Given the description of an element on the screen output the (x, y) to click on. 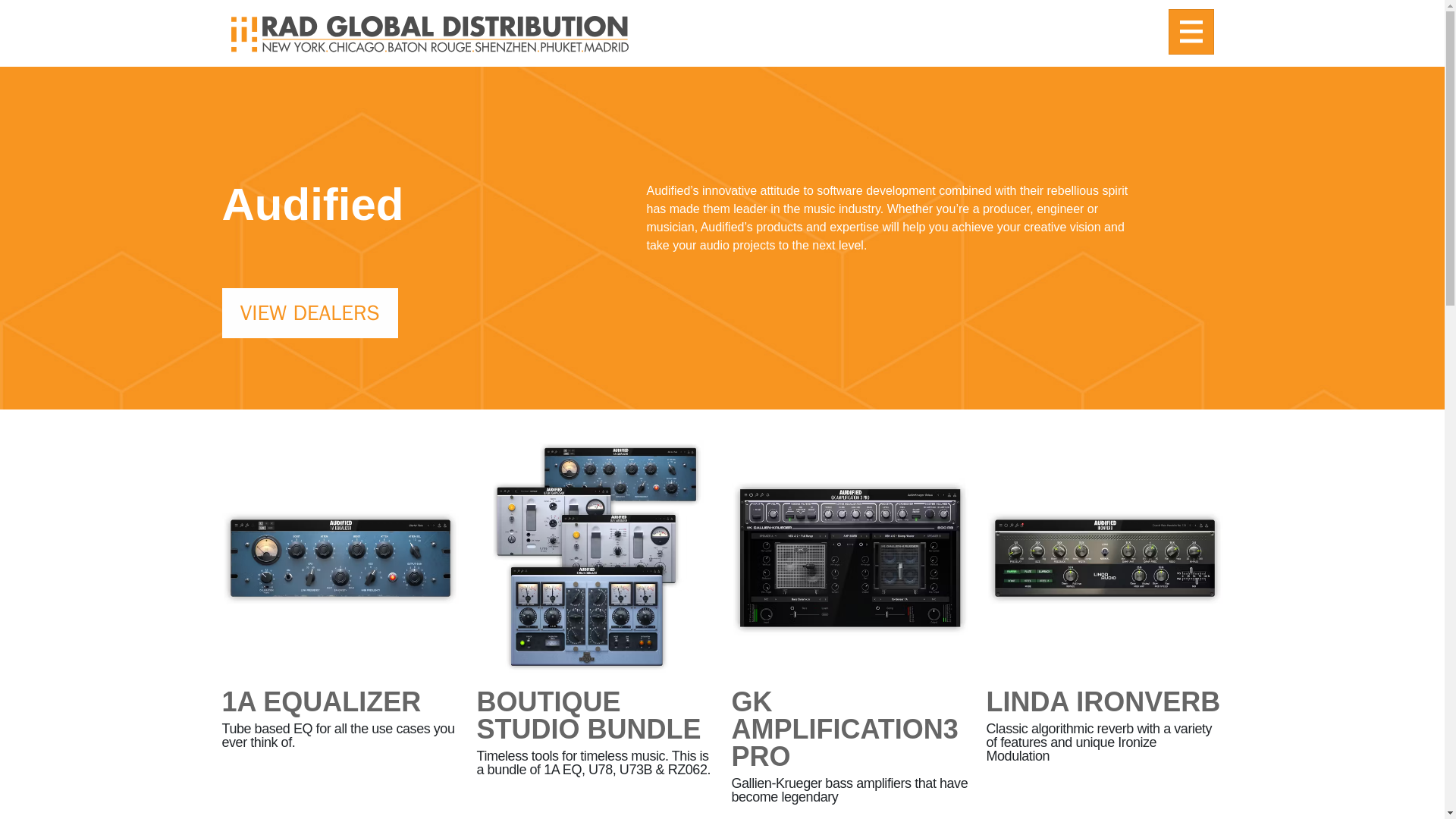
LINDA IRONVERB (1102, 707)
VIEW DEALERS (309, 313)
BOUTIQUE STUDIO BUNDLE (594, 734)
GK AMPLIFICATION3 PRO (849, 761)
1A EQUALIZER (320, 707)
